Given the description of an element on the screen output the (x, y) to click on. 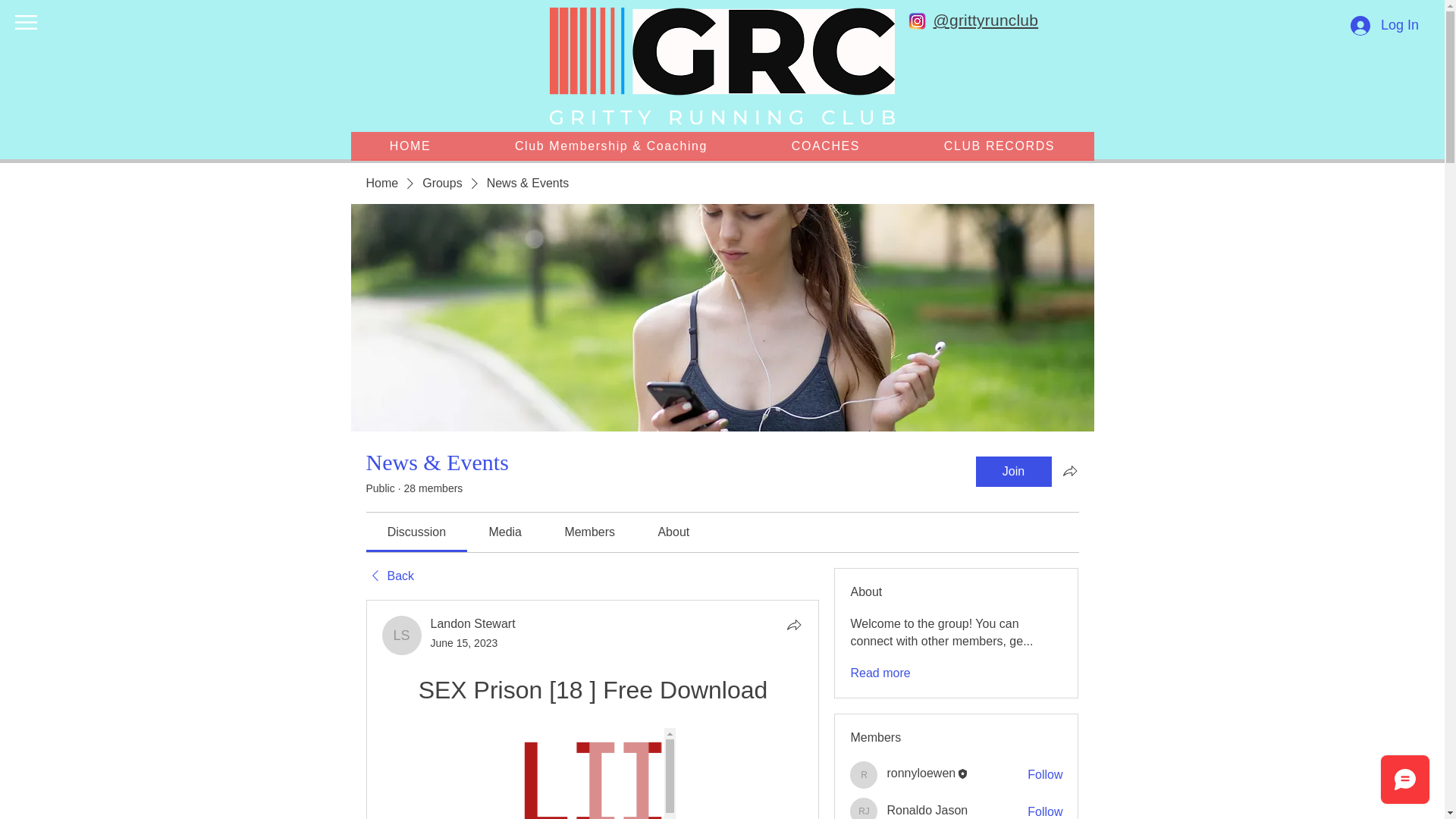
Follow (1044, 774)
June 15, 2023 (463, 643)
Ronaldo Jason (863, 808)
COACHES (825, 145)
Groups (441, 183)
Join (1013, 471)
ronnyloewen (863, 774)
Home (381, 183)
remote content (592, 773)
Landon Stewart (401, 635)
HOME (409, 145)
Log In (1384, 24)
CLUB RECORDS (998, 145)
Follow (1044, 811)
Back (389, 576)
